Given the description of an element on the screen output the (x, y) to click on. 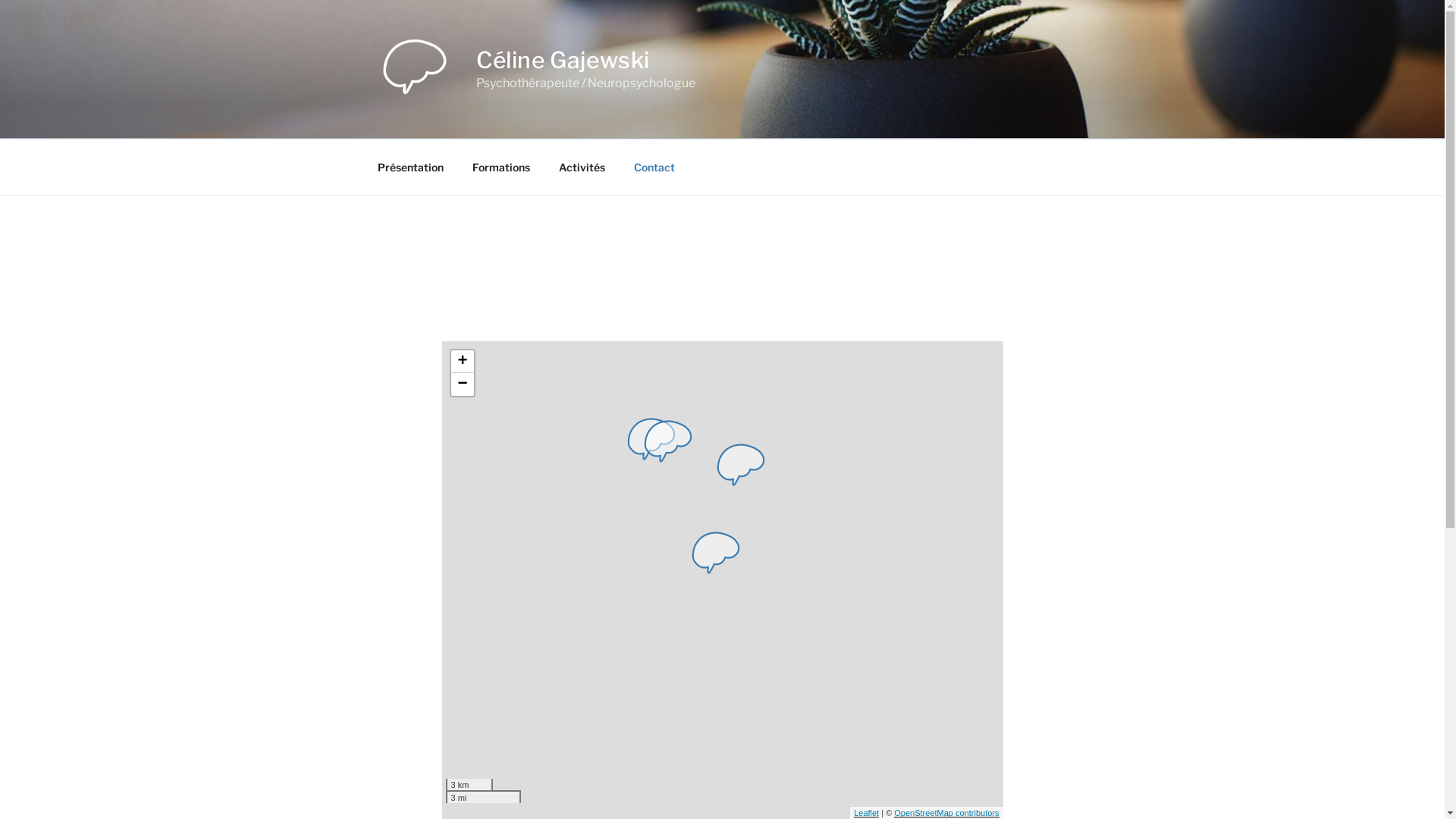
Leaflet Element type: text (865, 812)
Formations Element type: text (501, 166)
+ Element type: text (461, 361)
Contact Element type: text (653, 166)
OpenStreetMap contributors Element type: text (946, 812)
